Given the description of an element on the screen output the (x, y) to click on. 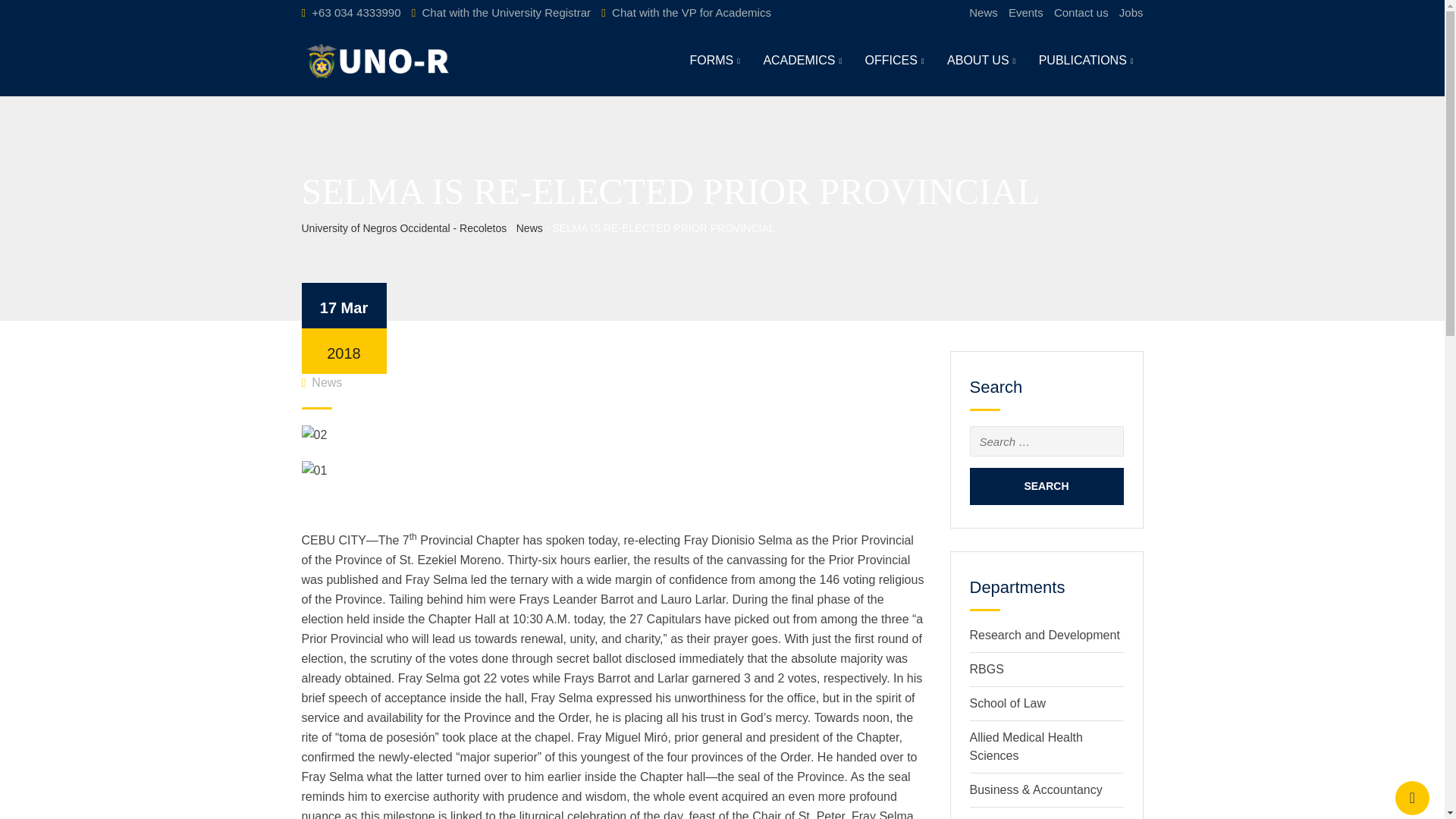
Go to University of Negros Occidental - Recoletos. (403, 227)
FORMS (714, 60)
Search (1045, 486)
Contact us (1081, 11)
Chat with the University Registrar (506, 11)
OFFICES (895, 60)
Go to News. (529, 227)
ACADEMICS (801, 60)
Search (1045, 486)
Events (1026, 11)
News (983, 11)
Jobs (1130, 11)
Chat with the VP for Academics (691, 11)
